Given the description of an element on the screen output the (x, y) to click on. 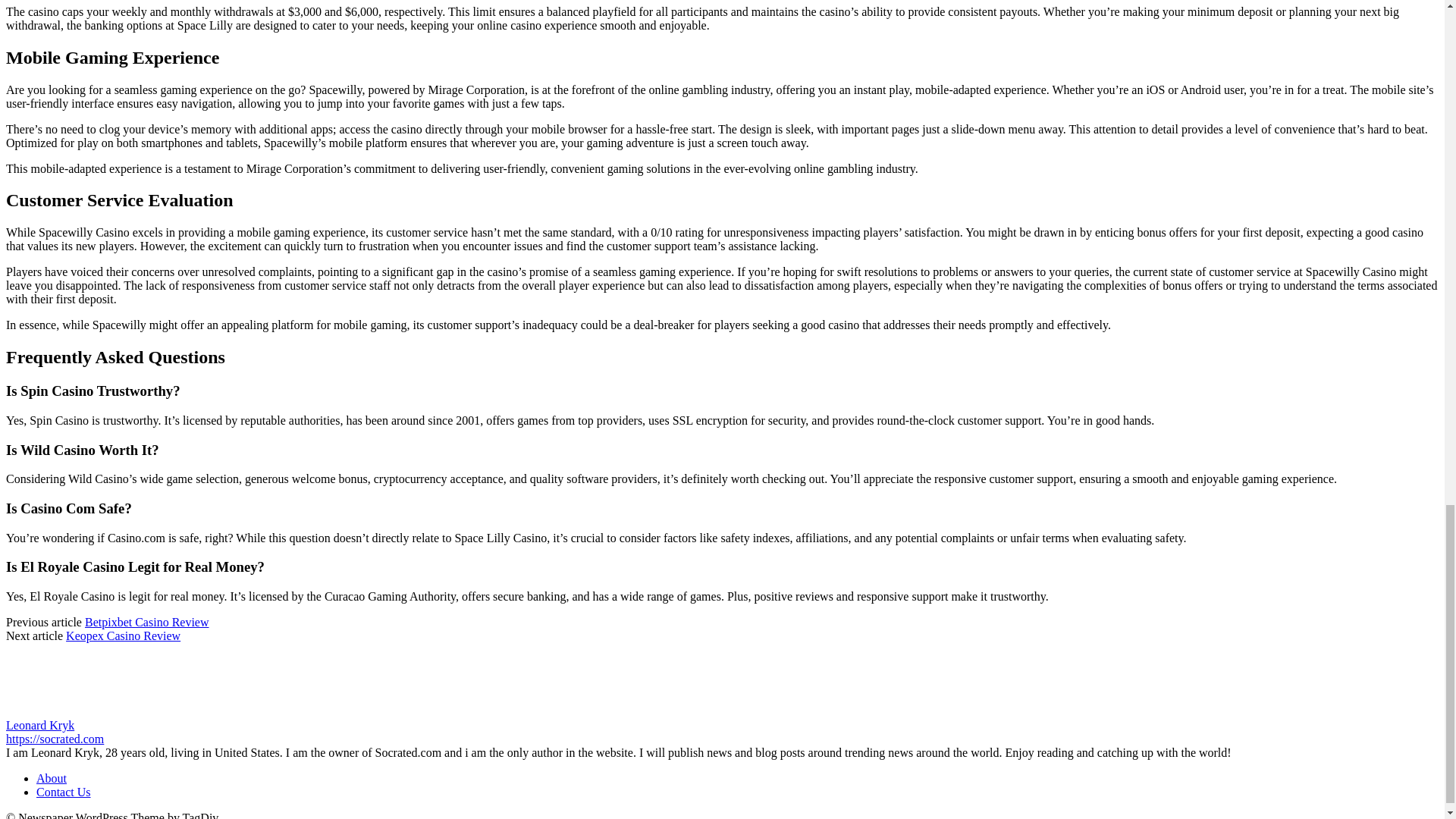
Keopex Casino Review (122, 635)
About (51, 778)
Leonard Kryk (39, 725)
Contact Us (63, 791)
Betpixbet Casino Review (146, 621)
